Given the description of an element on the screen output the (x, y) to click on. 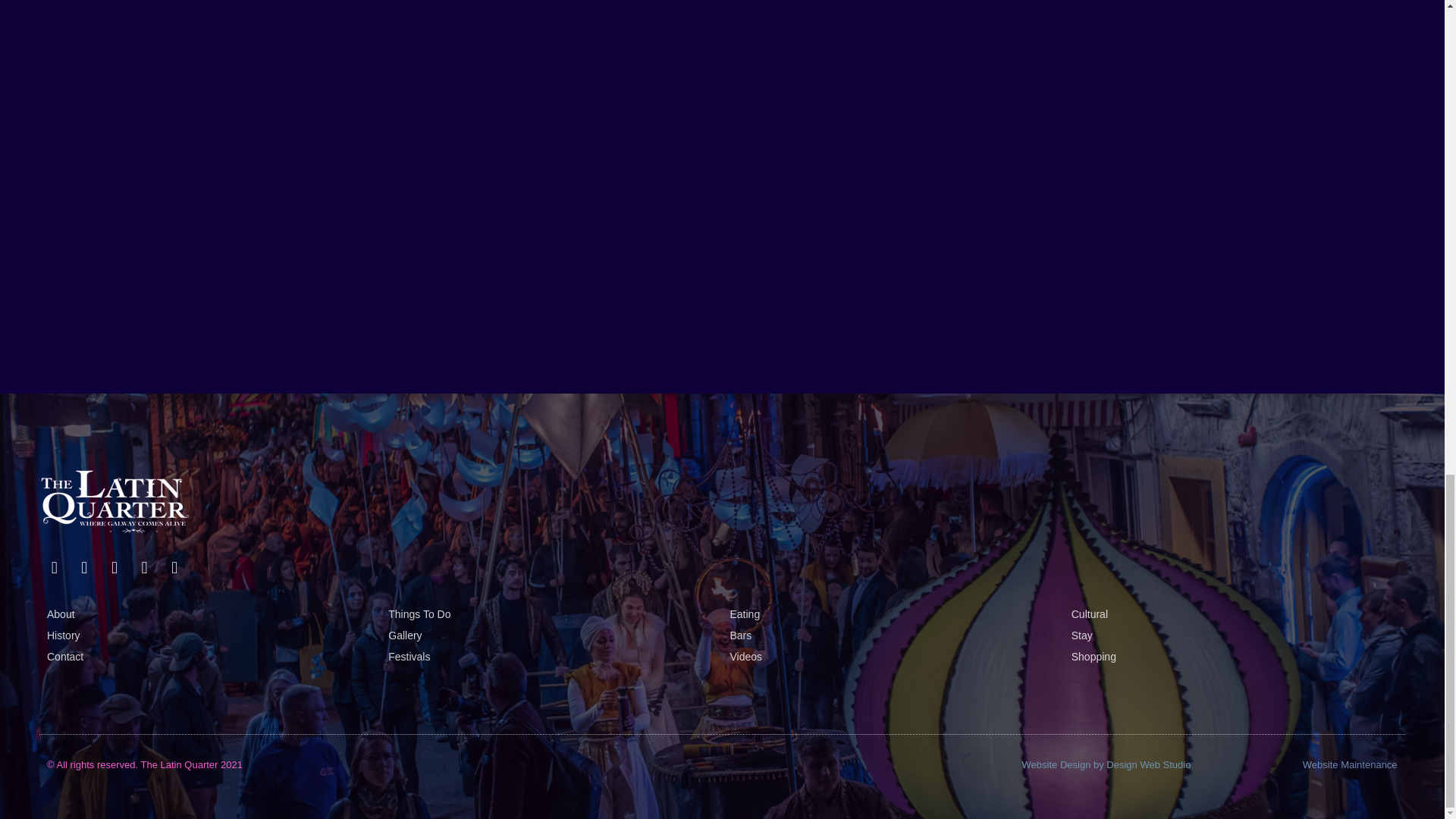
The-Latin-Quarter-Galway (114, 501)
